Given the description of an element on the screen output the (x, y) to click on. 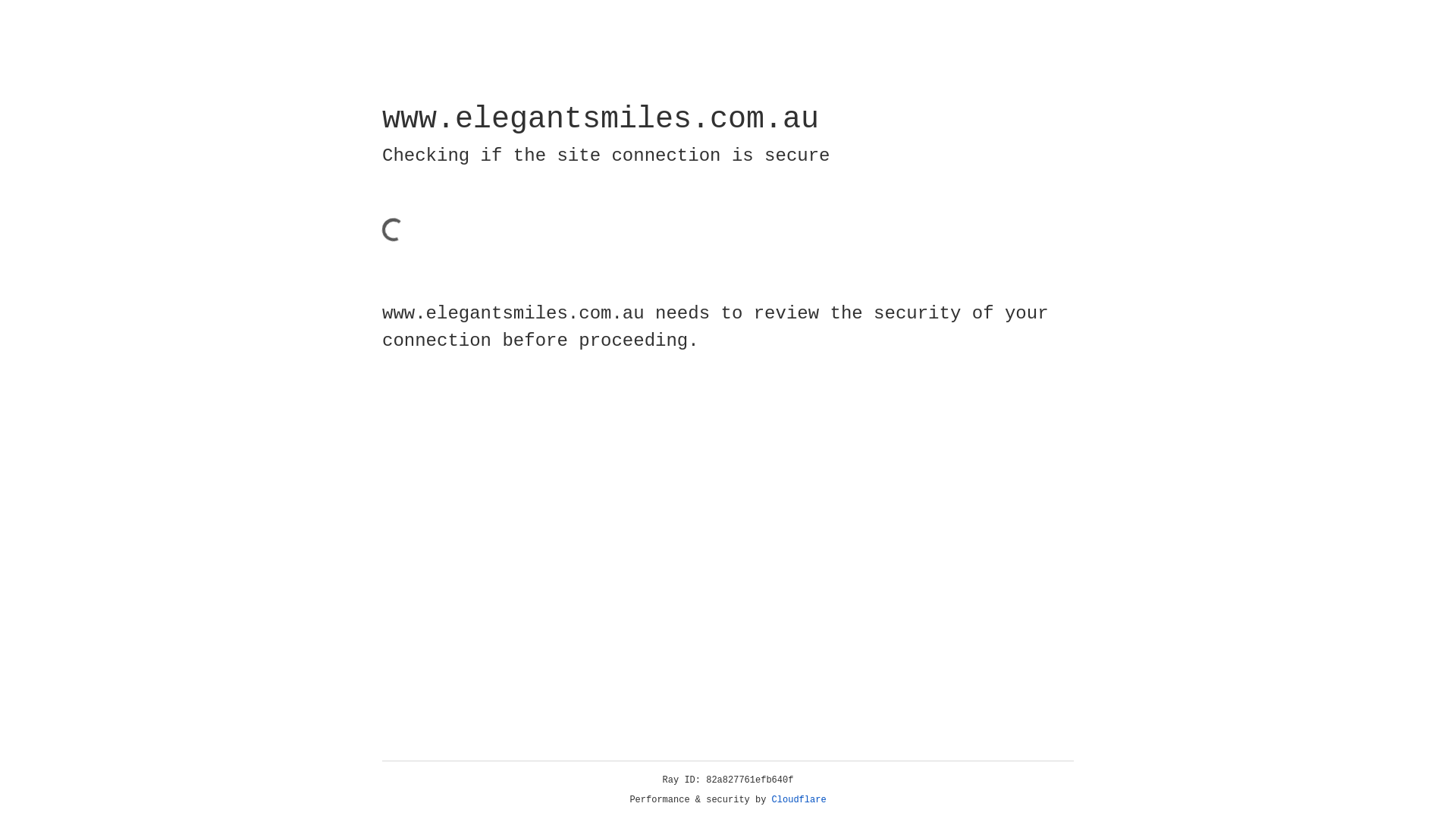
Cloudflare Element type: text (798, 799)
